Given the description of an element on the screen output the (x, y) to click on. 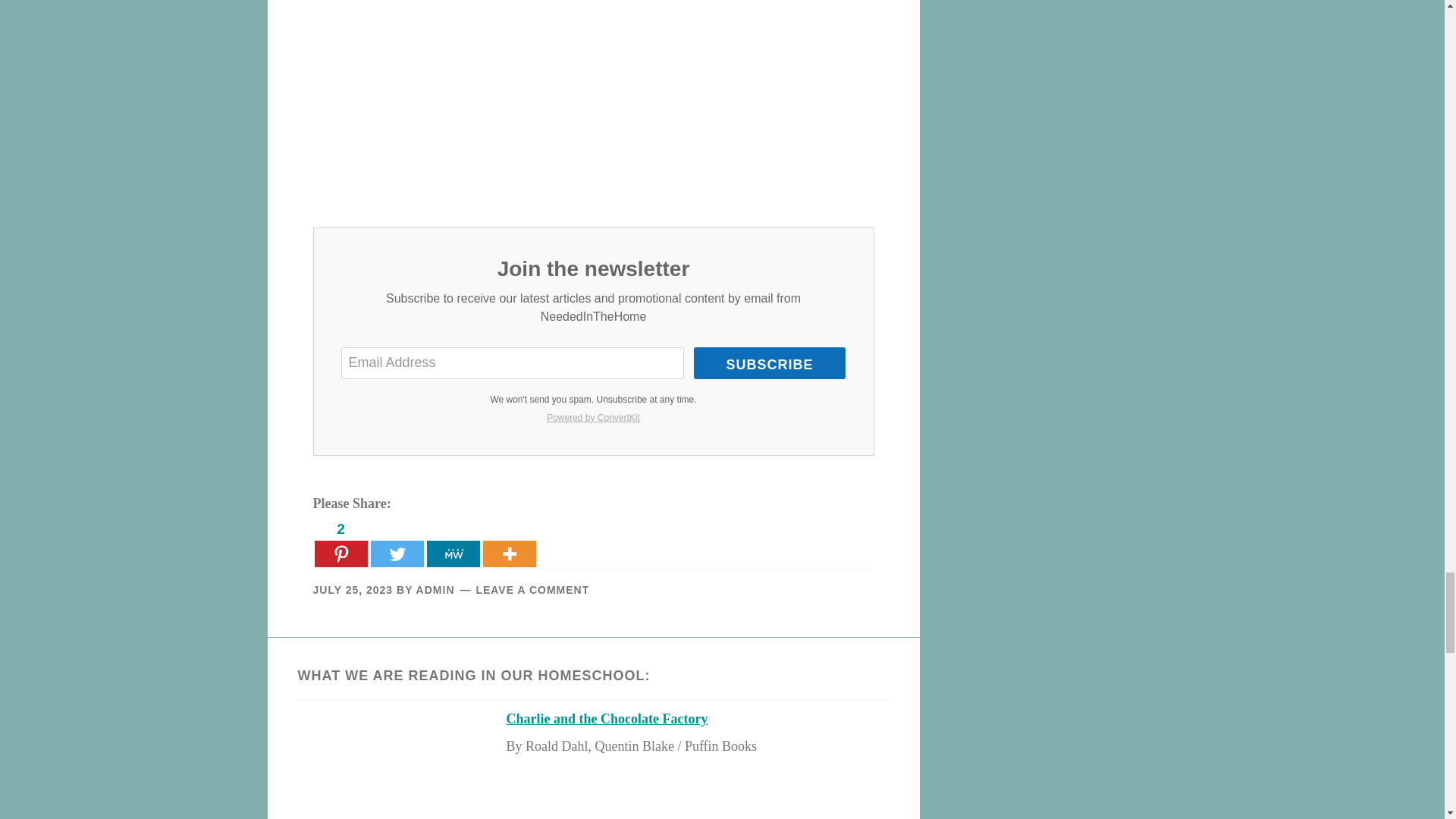
Twitter (396, 541)
More (508, 541)
MeWe (452, 541)
Choosing Affordable Premium Fashion Staples (592, 99)
Pinterest (340, 541)
